Given the description of an element on the screen output the (x, y) to click on. 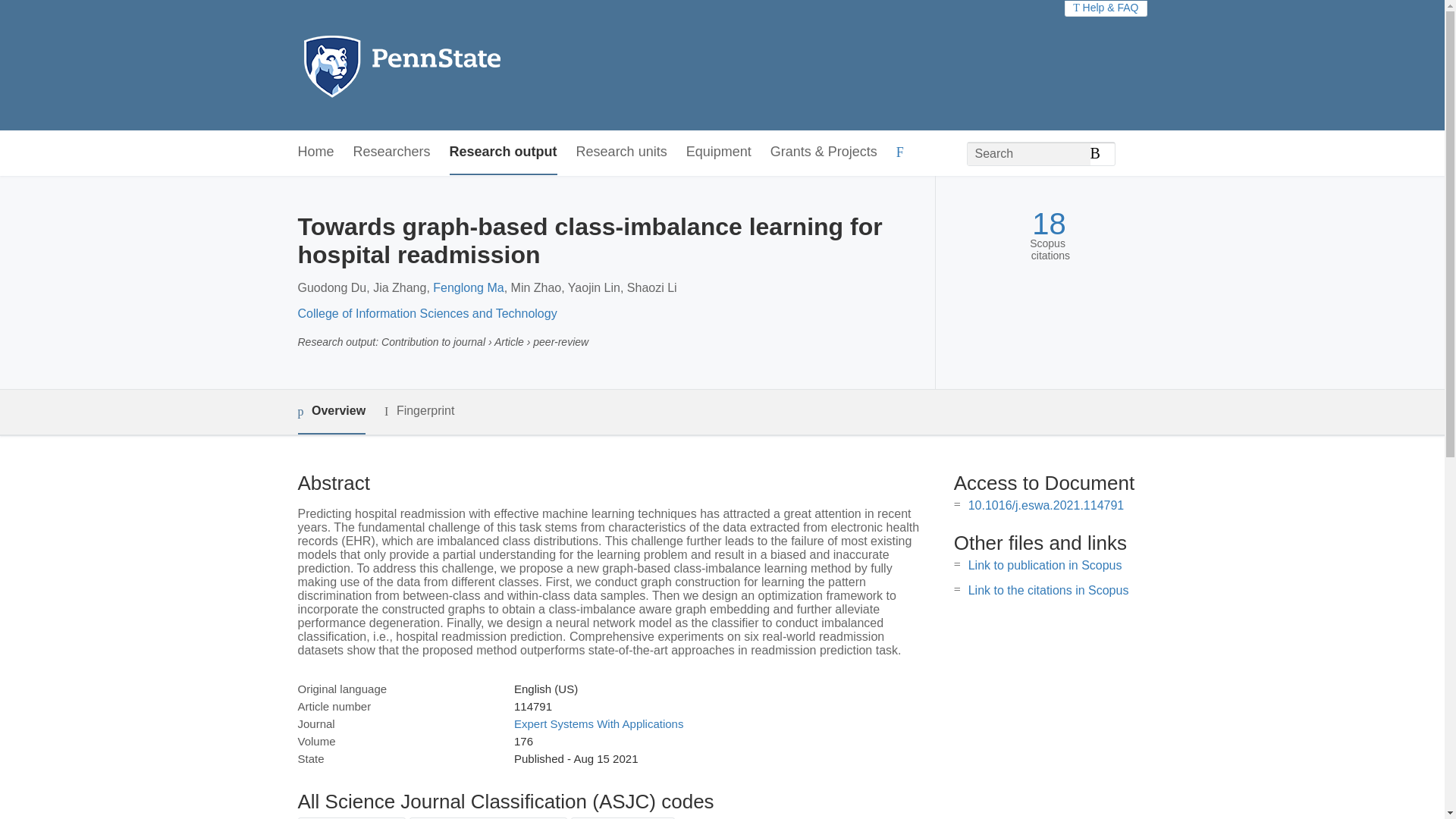
College of Information Sciences and Technology (426, 313)
Research units (621, 152)
Overview (331, 411)
Link to publication in Scopus (1045, 564)
Expert Systems With Applications (597, 723)
Link to the citations in Scopus (1048, 590)
18 (1048, 223)
Equipment (718, 152)
Penn State Home (467, 65)
Fenglong Ma (467, 287)
